Given the description of an element on the screen output the (x, y) to click on. 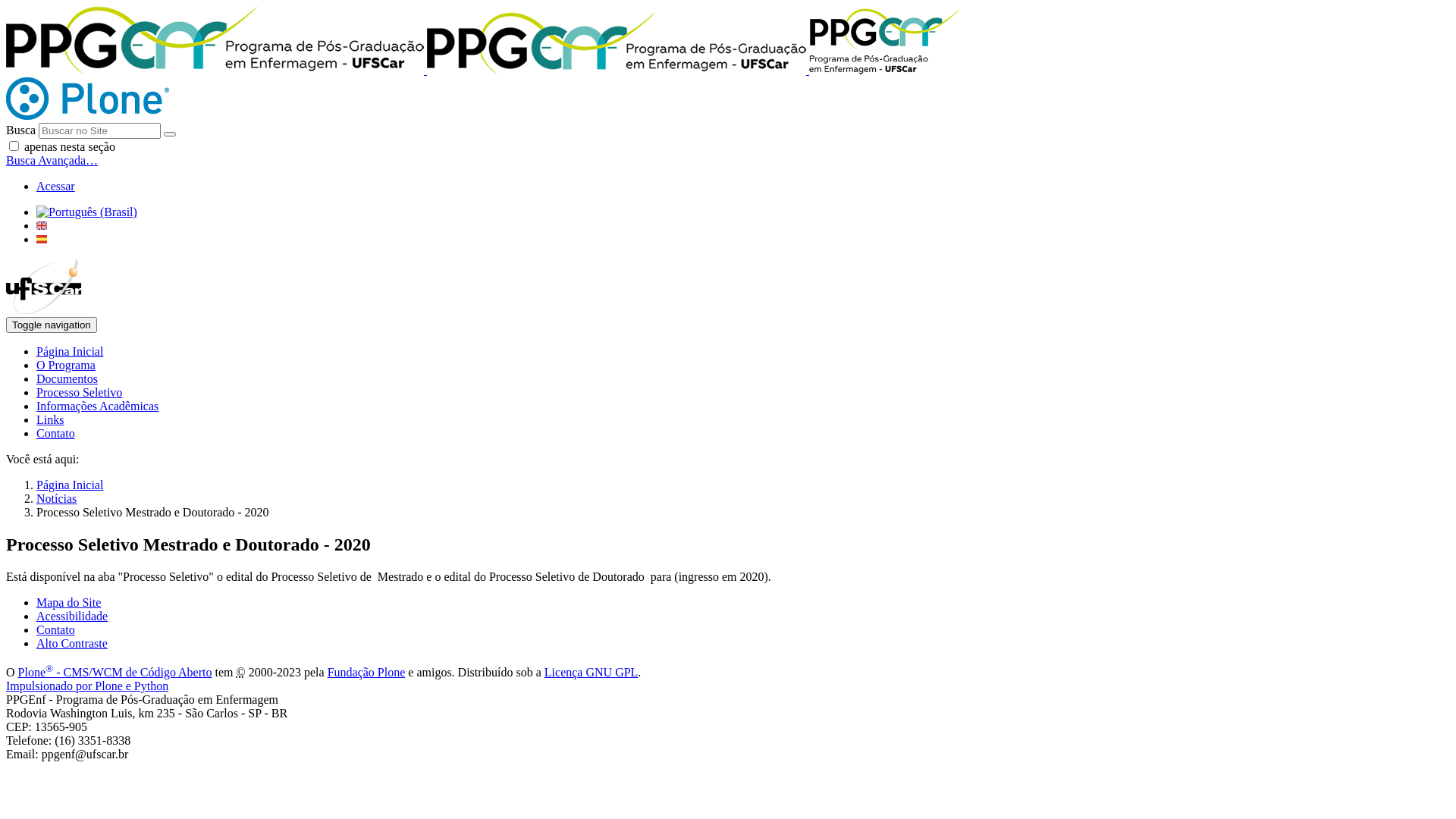
Processo Seletivo Element type: text (79, 391)
Links Element type: text (49, 419)
PPGEnf Element type: hover (483, 69)
Acessibilidade Element type: text (71, 615)
Contato Element type: text (55, 432)
Toggle navigation Element type: text (51, 324)
Alto Contraste Element type: text (71, 643)
Buscar no Site Element type: hover (99, 130)
Portal UFSCar Element type: hover (43, 309)
Documentos Element type: text (66, 378)
Impulsionado por Plone e Python Element type: text (87, 685)
PPGEnf Element type: hover (884, 41)
English Element type: hover (41, 225)
English Element type: hover (41, 225)
Mapa do Site Element type: text (68, 602)
O Programa Element type: text (65, 364)
PPGEnf Element type: hover (616, 43)
Contato Element type: text (55, 629)
PPGEnf Element type: hover (214, 40)
Acessar Element type: text (55, 185)
